Given the description of an element on the screen output the (x, y) to click on. 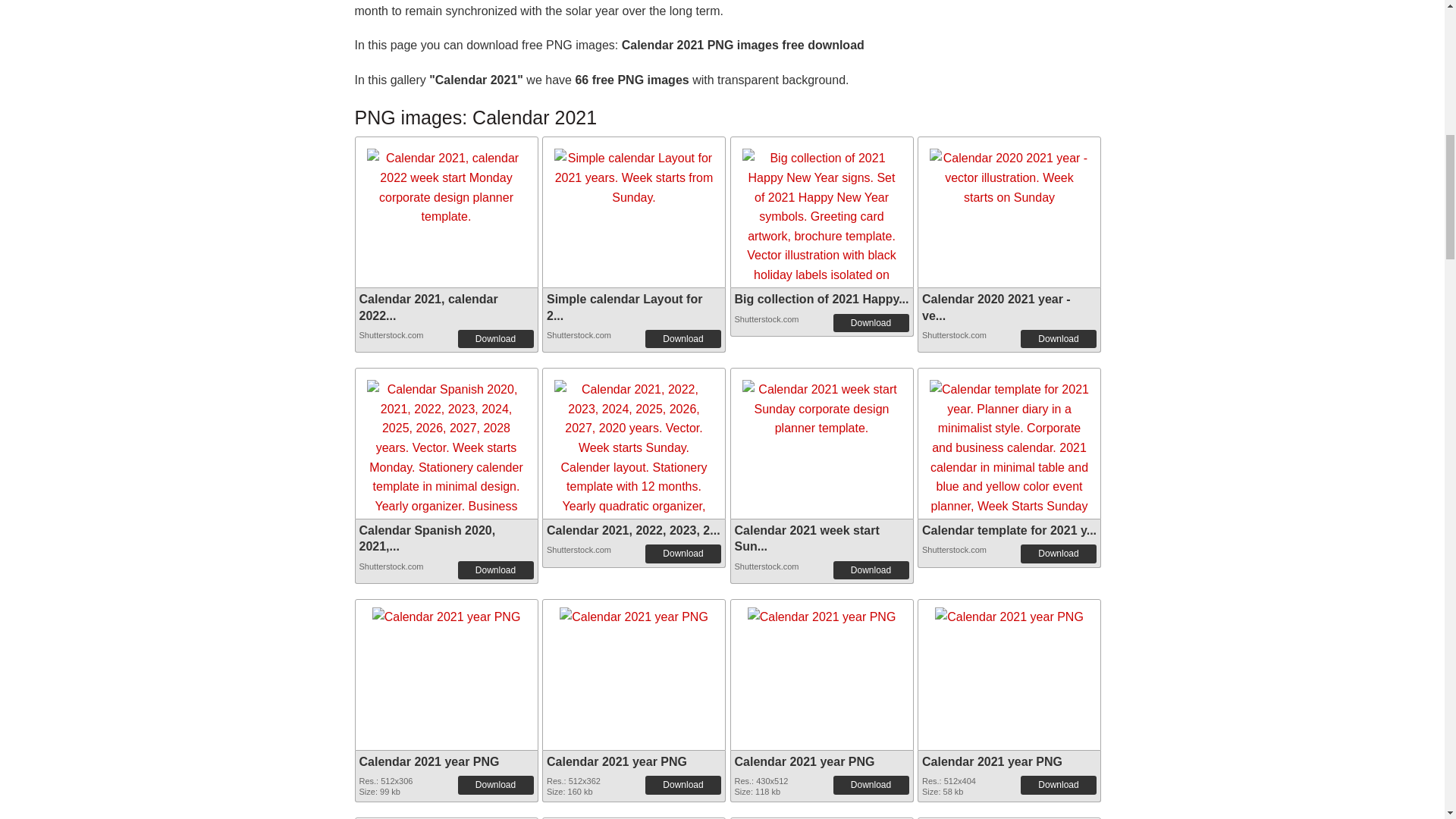
Calendar 2021 year PNG (1008, 613)
Calendar 2021 week start Sun... (806, 538)
Download (870, 570)
Calendar Spanish 2020, 2021,... (427, 538)
Calendar 2021, calendar 2022... (428, 306)
Calendar 2021 year PNG (822, 613)
Download (1058, 339)
Calendar 2021 year PNG (429, 761)
